Given the description of an element on the screen output the (x, y) to click on. 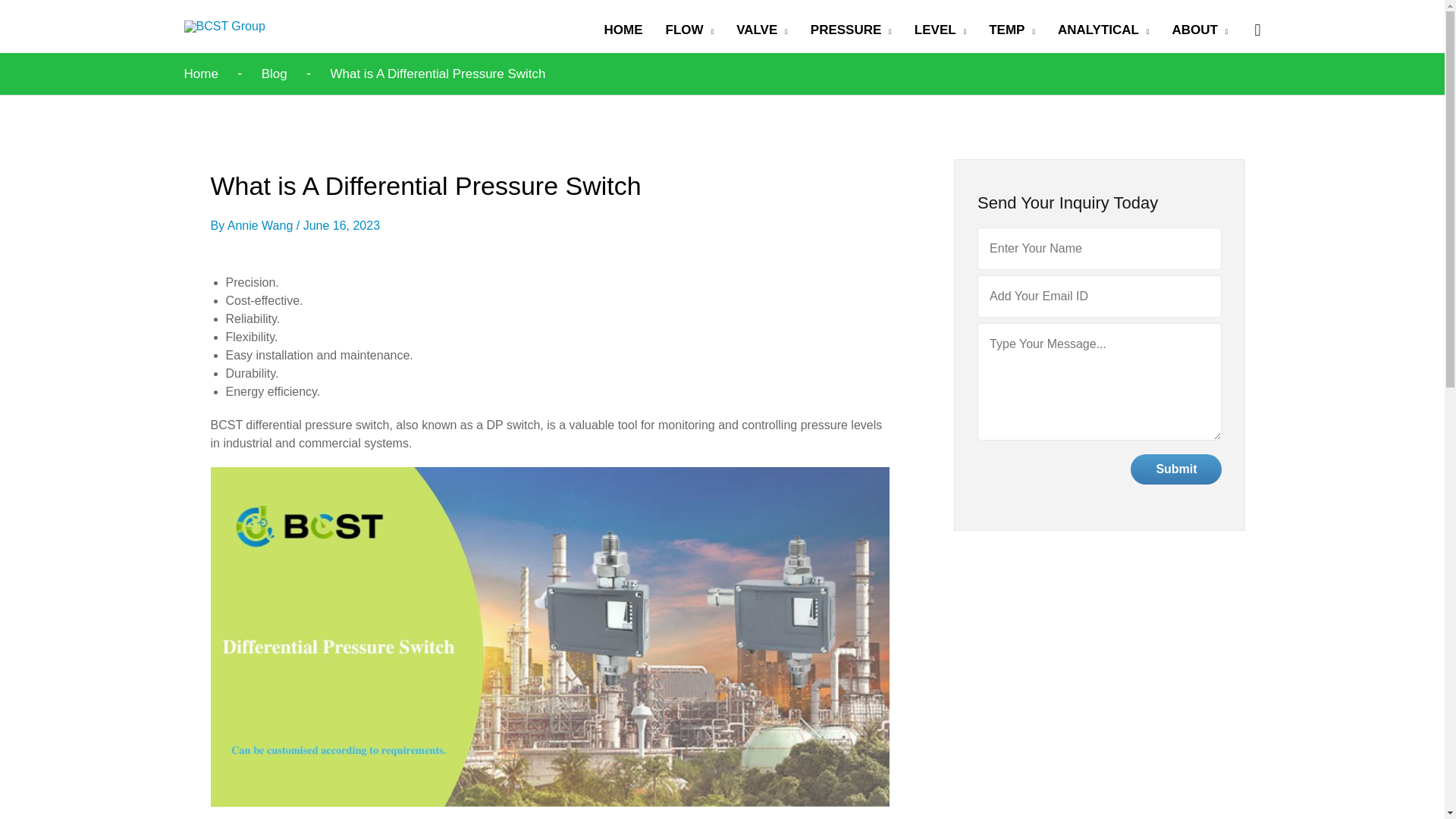
Submit (1176, 469)
View all posts by Annie Wang (262, 225)
HOME (622, 29)
FLOW (689, 29)
